Given the description of an element on the screen output the (x, y) to click on. 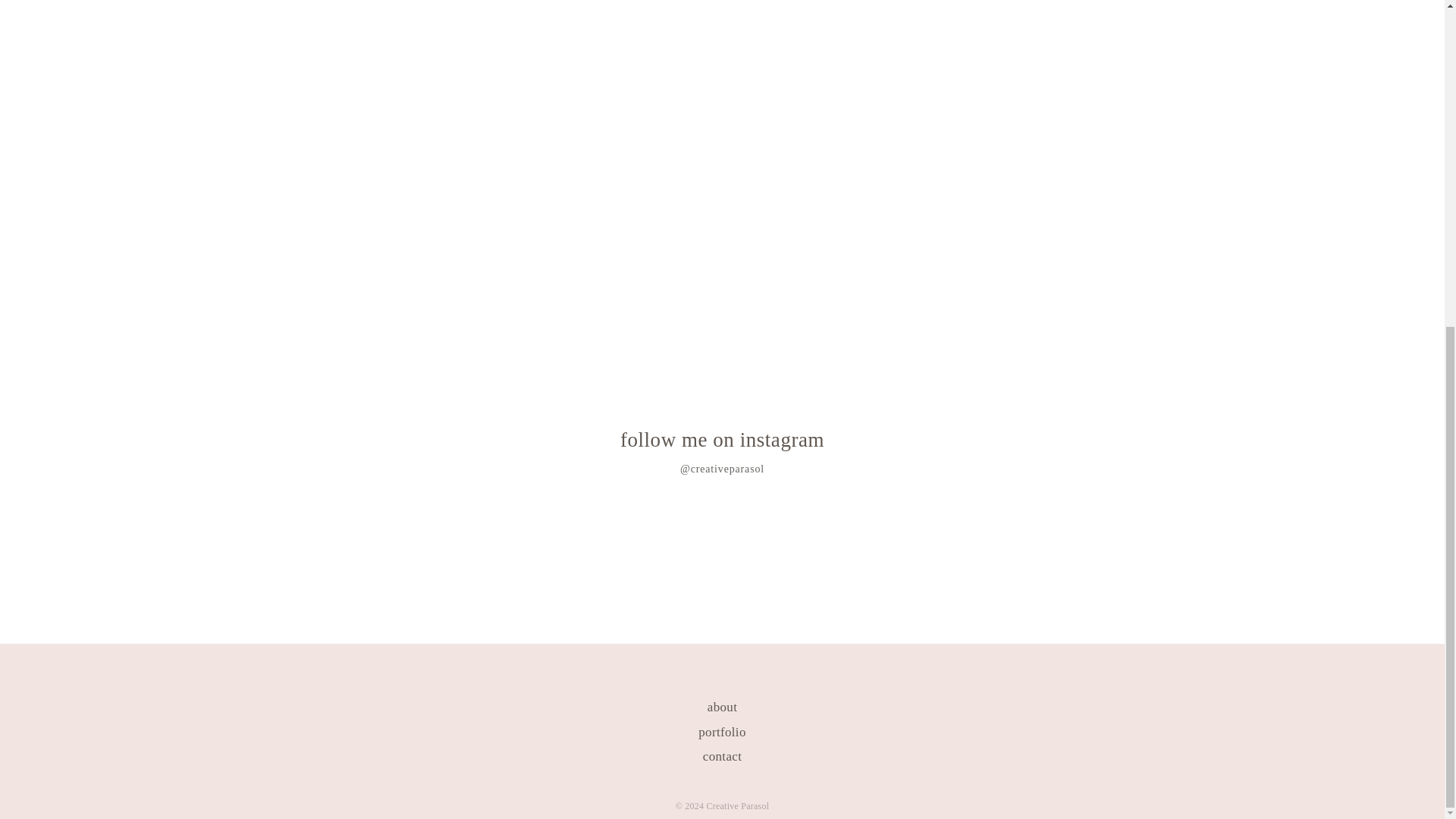
contact (722, 756)
about (721, 707)
portfolio (721, 731)
